Given the description of an element on the screen output the (x, y) to click on. 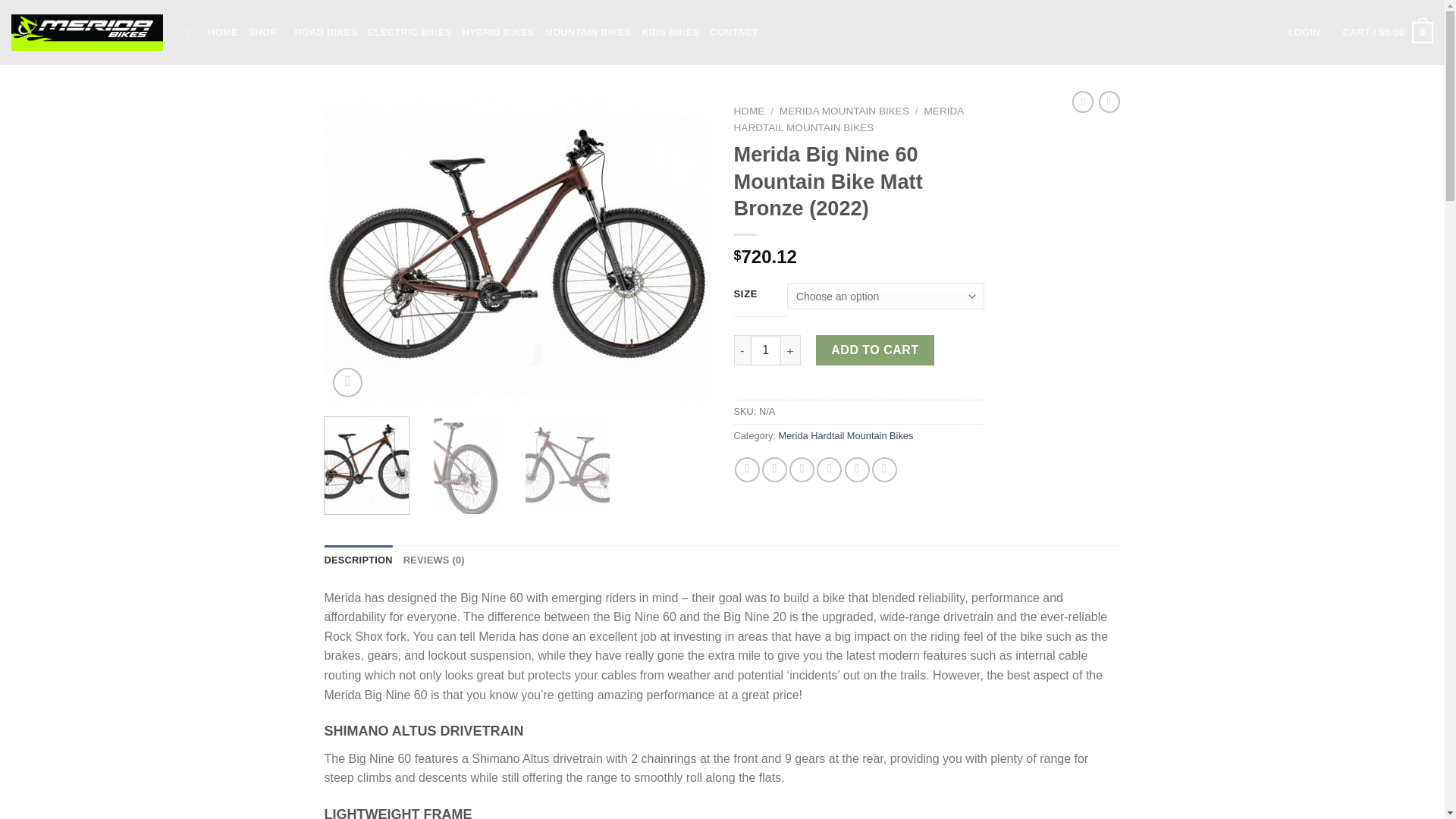
HYBRID BIKES (498, 32)
SHOP (265, 32)
MERIDA HARDTAIL MOUNTAIN BIKES (848, 119)
Cart (1387, 32)
HOME (749, 111)
HOME (222, 32)
MERIDA MOUNTAIN BIKES (843, 111)
ROAD BIKES (325, 32)
LOGIN (1304, 32)
MOUNTAIN BIKES (587, 32)
1 (765, 349)
Merida Bikes - Buy Merida Bikes Online (87, 32)
CONTACT (733, 32)
ELECTRIC BIKES (409, 32)
ADD TO CART (874, 349)
